Given the description of an element on the screen output the (x, y) to click on. 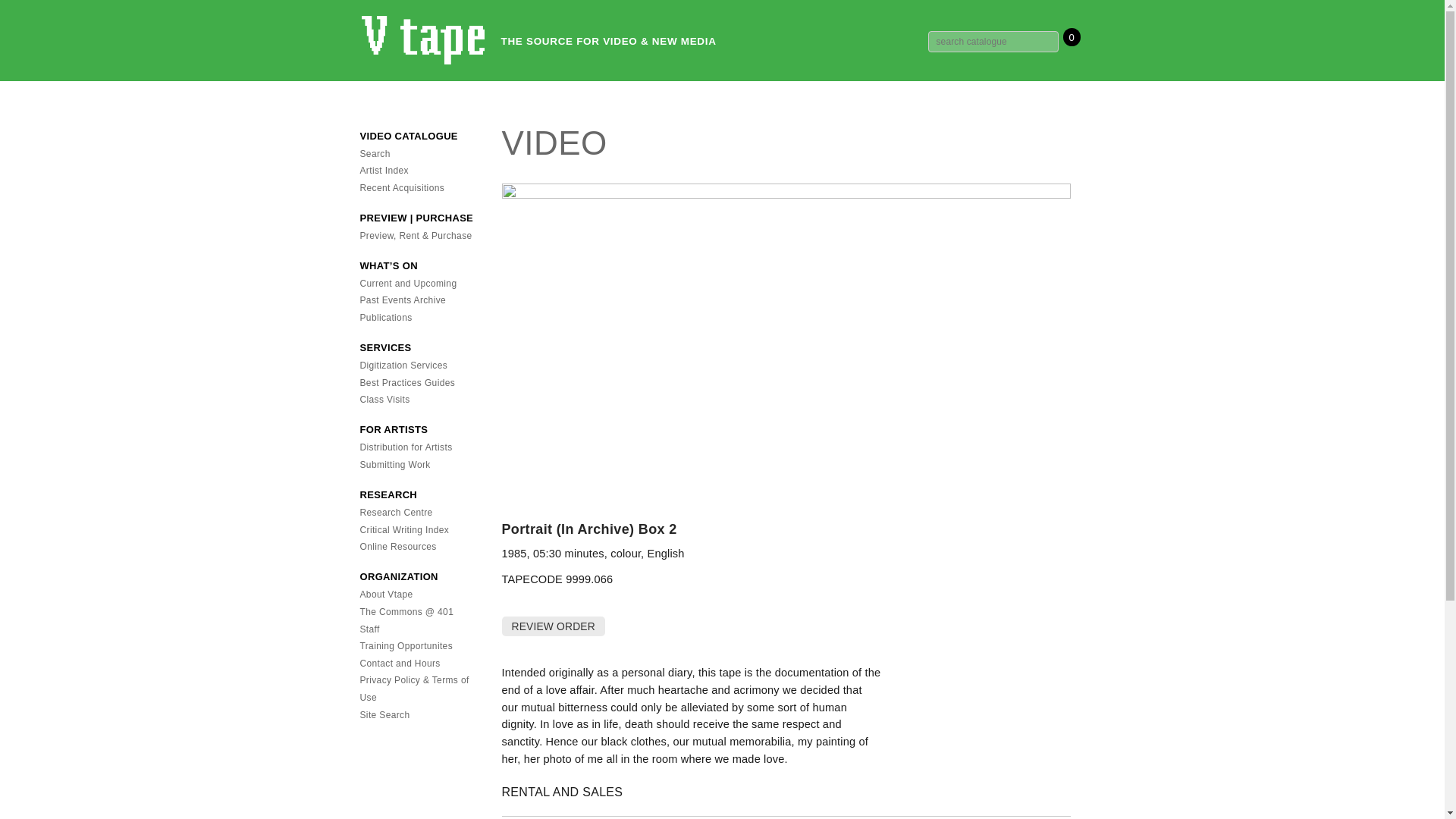
Recent Acquisitions (401, 187)
Current and Upcoming (408, 283)
Critical Writing Index Search (403, 529)
Search (374, 153)
Artist Index (383, 170)
Search catalogue: (993, 41)
View requested items (552, 625)
REVIEW ORDER (553, 626)
